Given the description of an element on the screen output the (x, y) to click on. 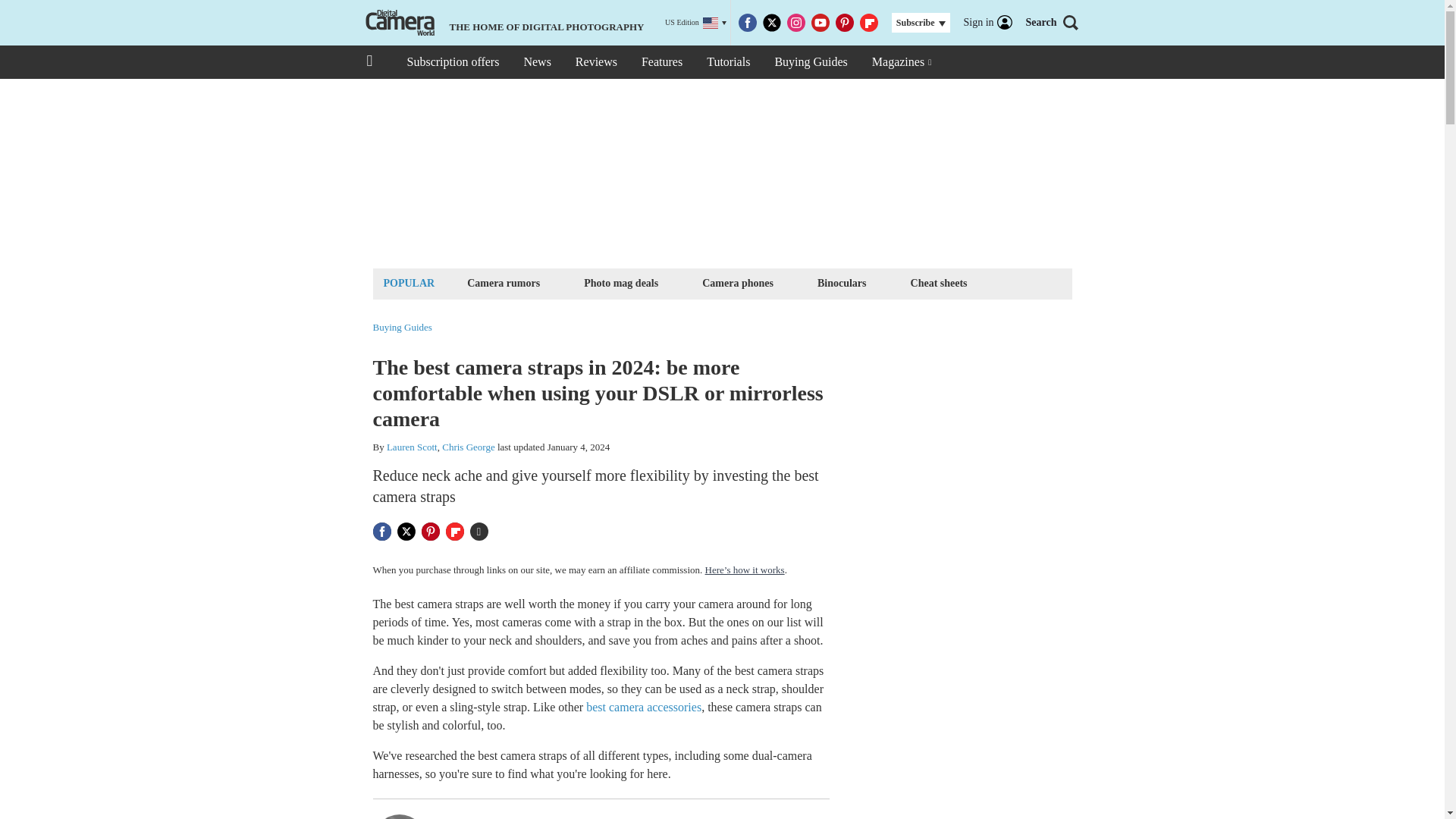
Reviews (595, 61)
Cheat sheets (938, 282)
Buying Guides (810, 61)
Binoculars (842, 282)
Tutorials (727, 61)
US Edition (695, 22)
Subscription offers (452, 61)
Camera rumors (502, 282)
Camera phones (737, 282)
THE HOME OF DIGITAL PHOTOGRAPHY (503, 22)
News (536, 61)
Features (661, 61)
Buying Guides (402, 327)
Photo mag deals (620, 282)
